Given the description of an element on the screen output the (x, y) to click on. 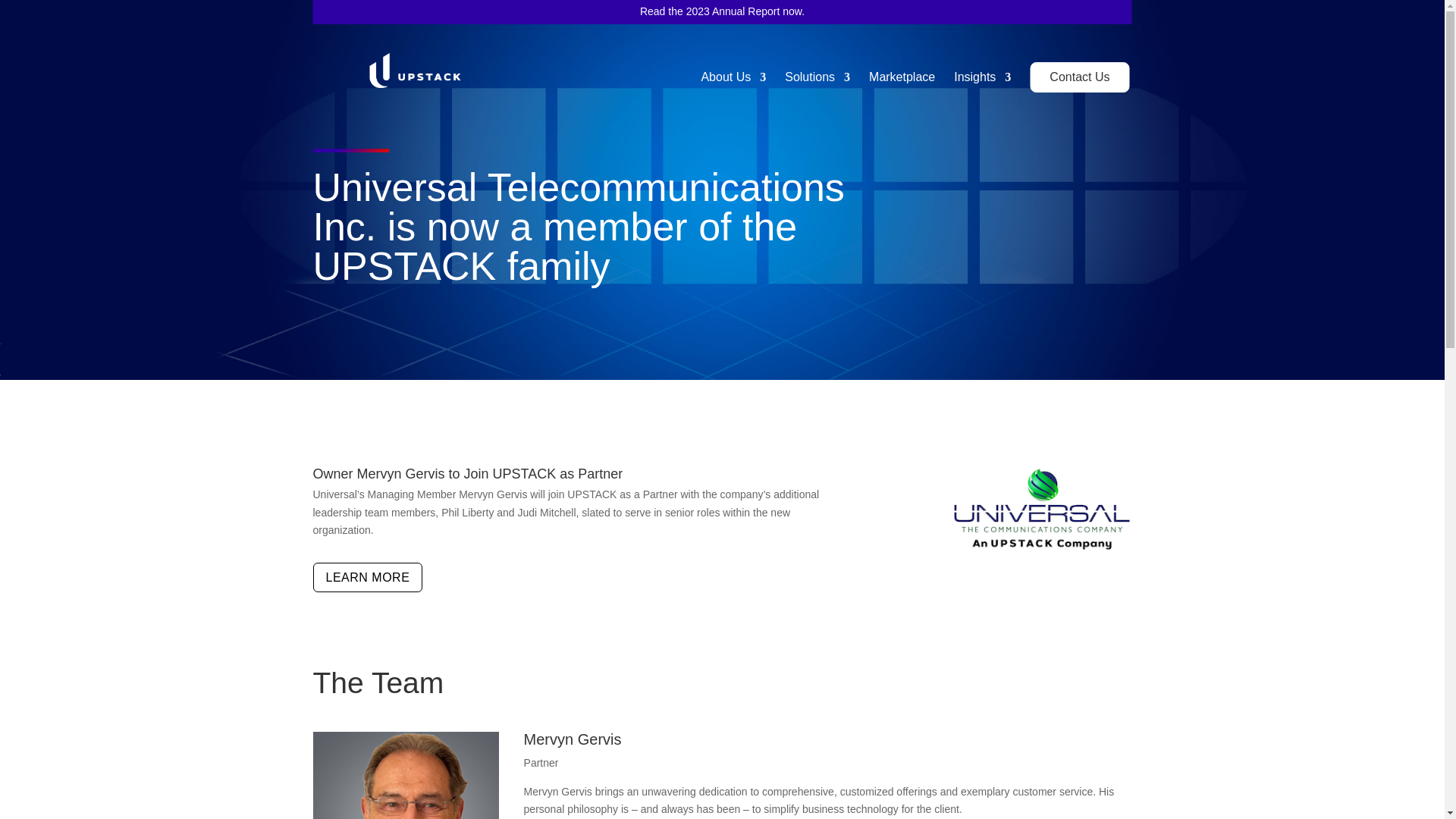
Universal-Telecommunications-logo-endorsed (1042, 508)
Insights (981, 84)
Marketplace (901, 84)
mervyn-gervis-grey-2-300x300-1 (406, 775)
2023 Annual Report (732, 10)
LEARN MORE (367, 577)
Contact Us (1079, 77)
Solutions (817, 84)
About Us (732, 84)
